Given the description of an element on the screen output the (x, y) to click on. 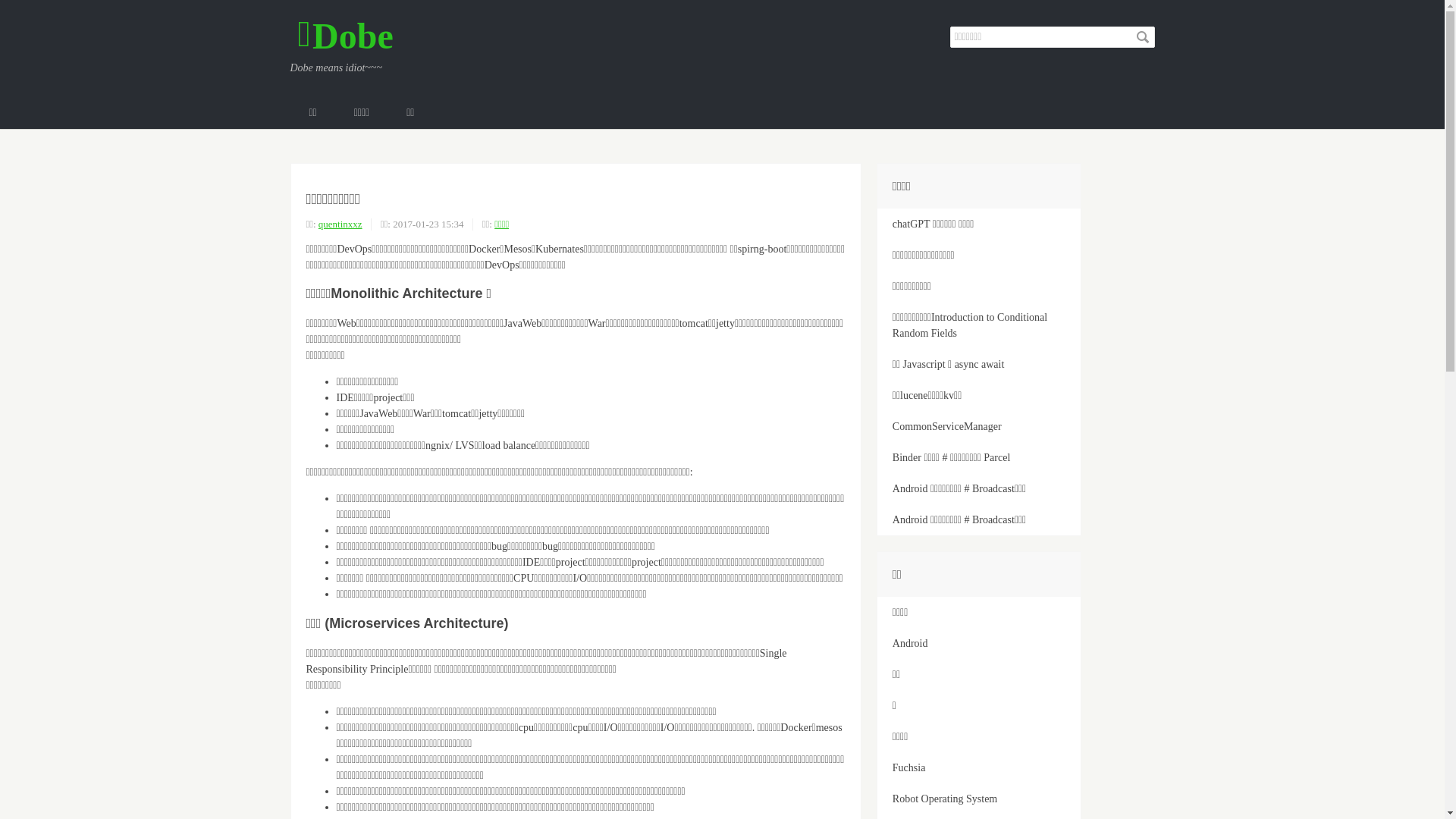
Android Element type: text (978, 642)
Robot Operating System Element type: text (978, 798)
Fuchsia Element type: text (978, 767)
quentinxxz Element type: text (340, 223)
Dobe Element type: text (344, 34)
CommonServiceManager Element type: text (978, 426)
